Given the description of an element on the screen output the (x, y) to click on. 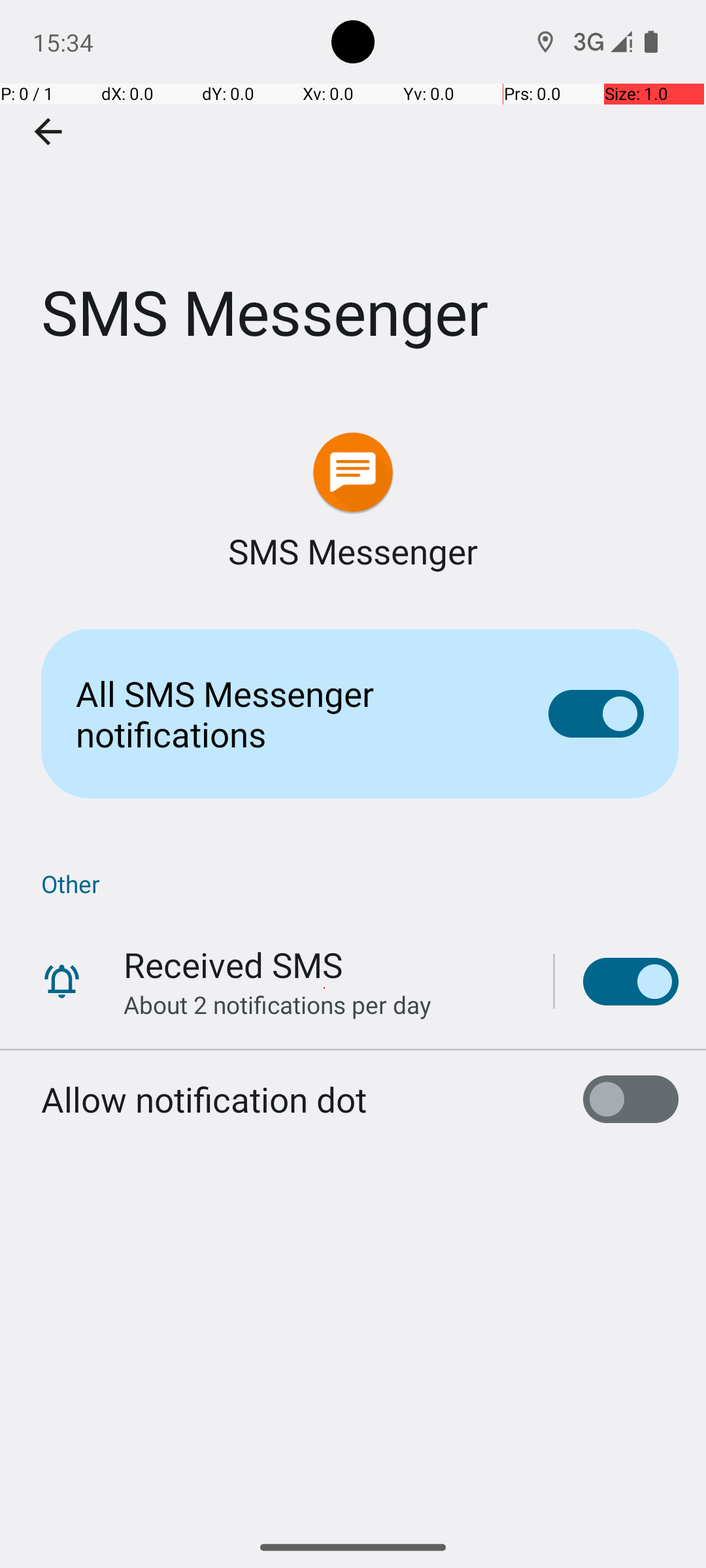
All SMS Messenger notifications Element type: android.widget.TextView (291, 713)
Received SMS Element type: android.widget.TextView (232, 964)
About 2 notifications per day Element type: android.widget.TextView (277, 1004)
Allow notification dot Element type: android.widget.TextView (203, 1099)
